Given the description of an element on the screen output the (x, y) to click on. 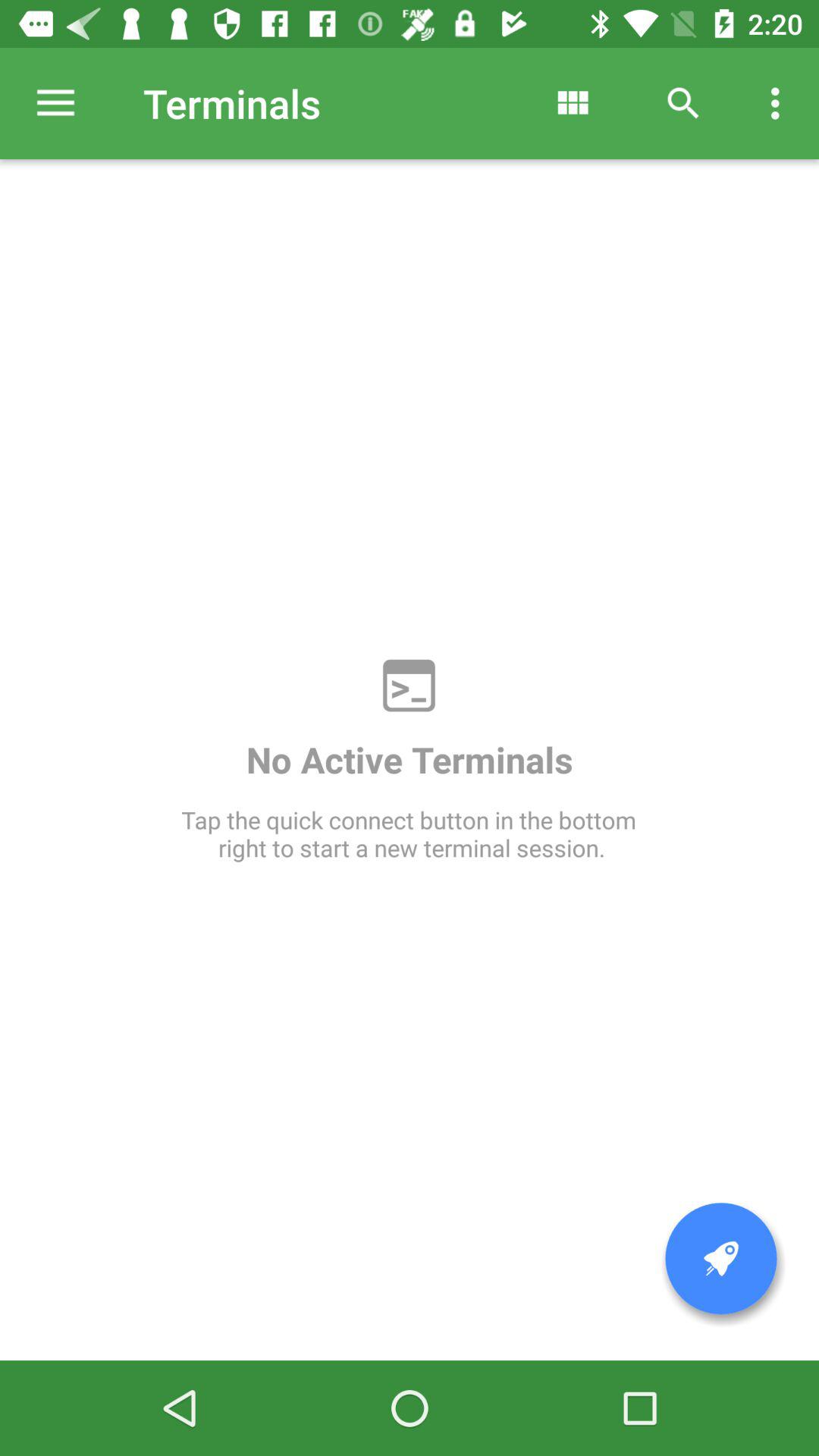
select icon at the bottom right corner (721, 1258)
